Given the description of an element on the screen output the (x, y) to click on. 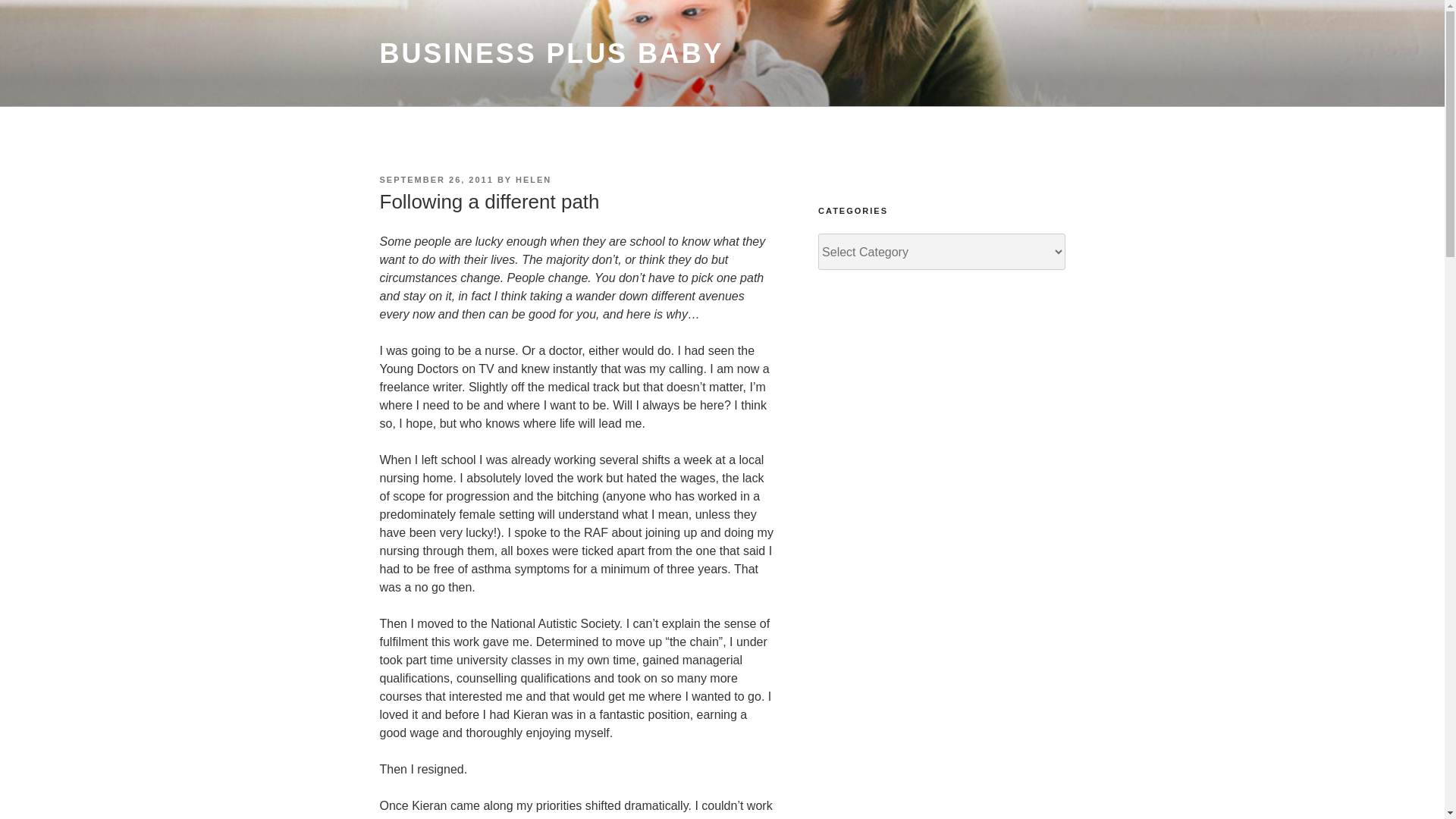
HELEN (533, 179)
SEPTEMBER 26, 2011 (435, 179)
BUSINESS PLUS BABY (550, 52)
